Given the description of an element on the screen output the (x, y) to click on. 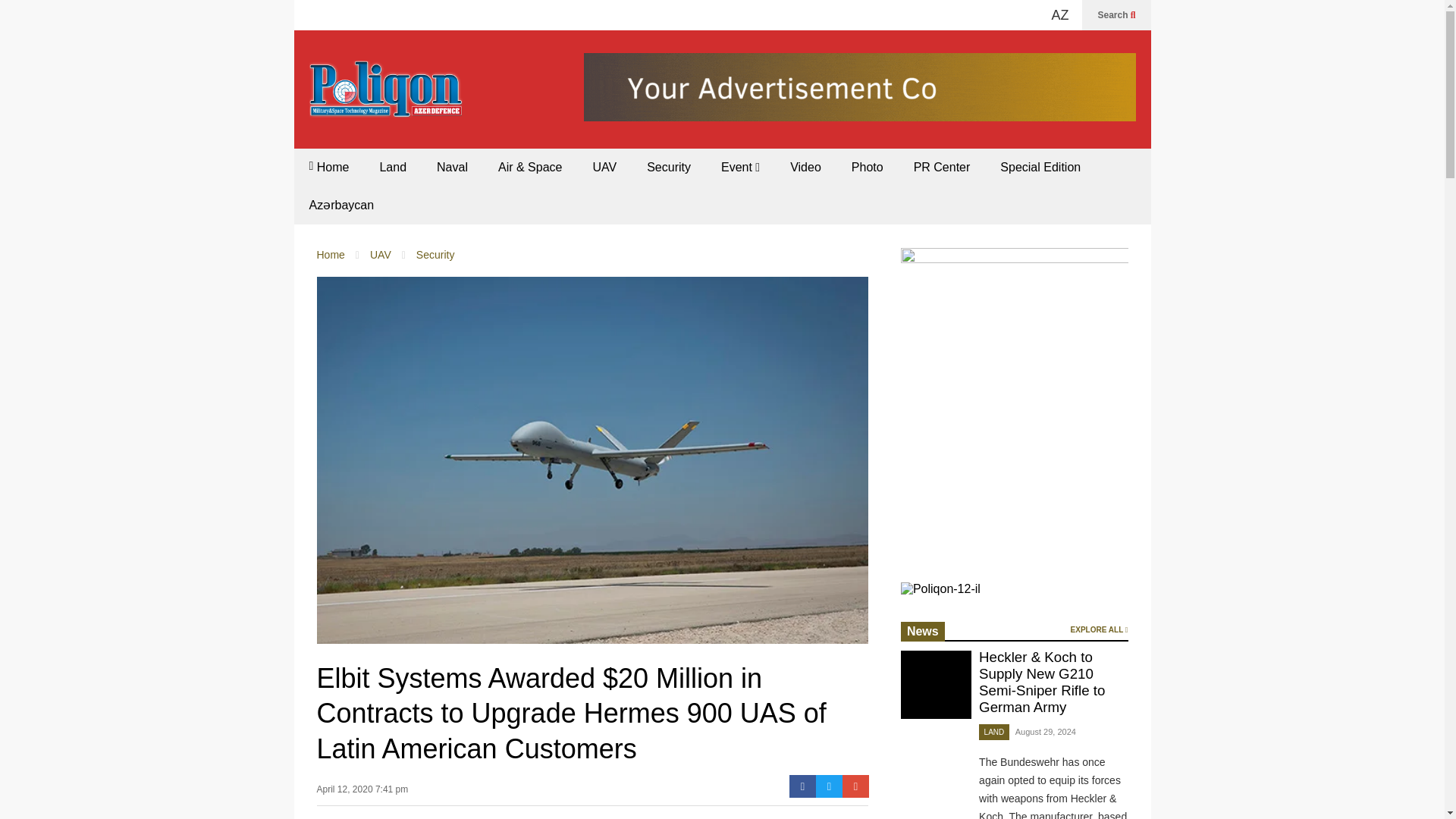
Land (393, 167)
poliqon (1051, 15)
Home (331, 254)
UAV (380, 254)
Naval (452, 167)
Google-plus (856, 785)
April 12, 2020 7:41 pm (363, 793)
Video (804, 167)
UAV (603, 167)
Photo (866, 167)
